Given the description of an element on the screen output the (x, y) to click on. 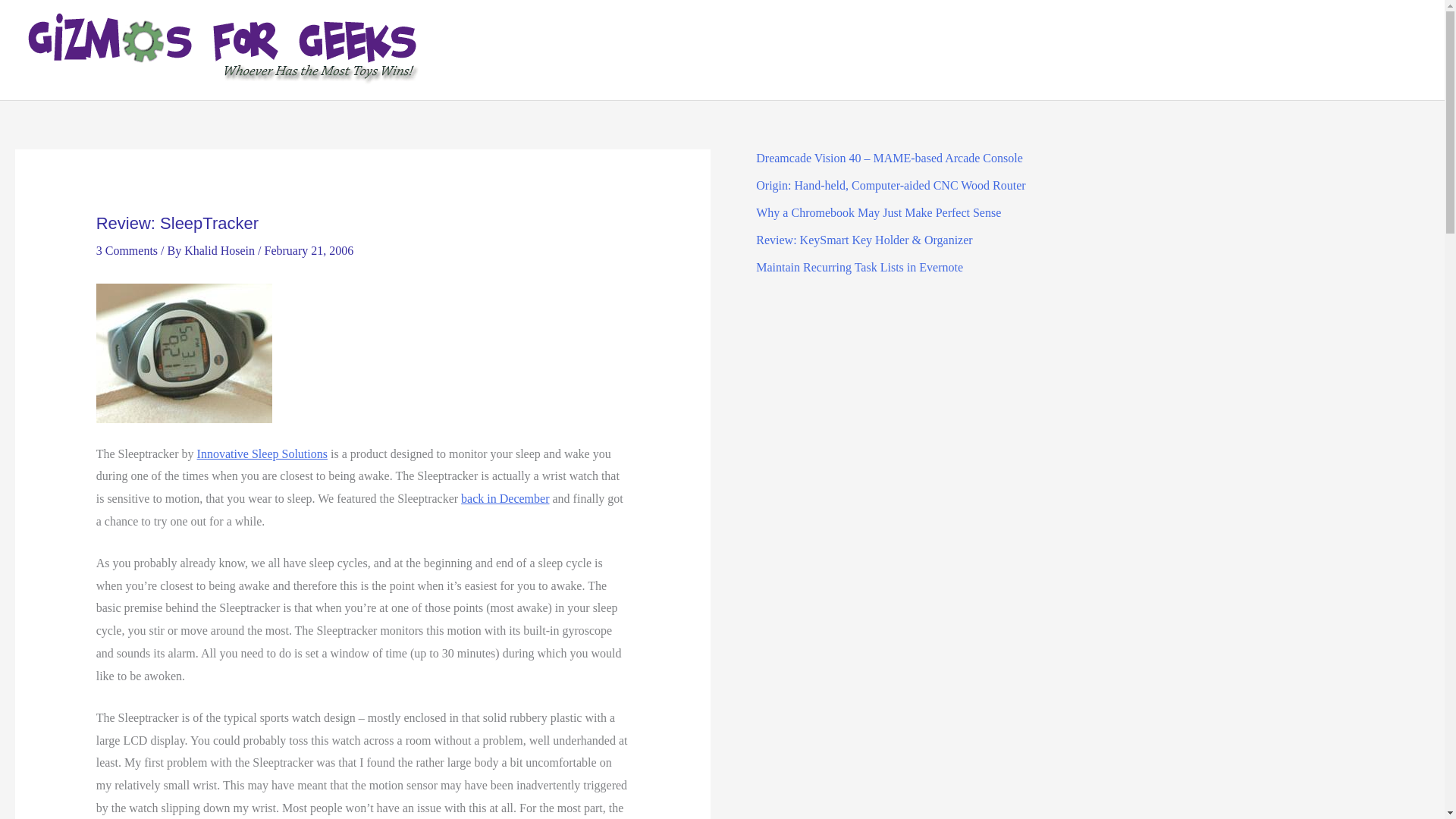
3 Comments (126, 250)
View all posts by Khalid Hosein (220, 250)
back in December (504, 498)
Why a Chromebook May Just Make Perfect Sense (878, 212)
Maintain Recurring Task Lists in Evernote (858, 267)
Khalid Hosein (220, 250)
Origin: Hand-held, Computer-aided CNC Wood Router (890, 185)
Innovative Sleep Solutions (261, 453)
